Given the description of an element on the screen output the (x, y) to click on. 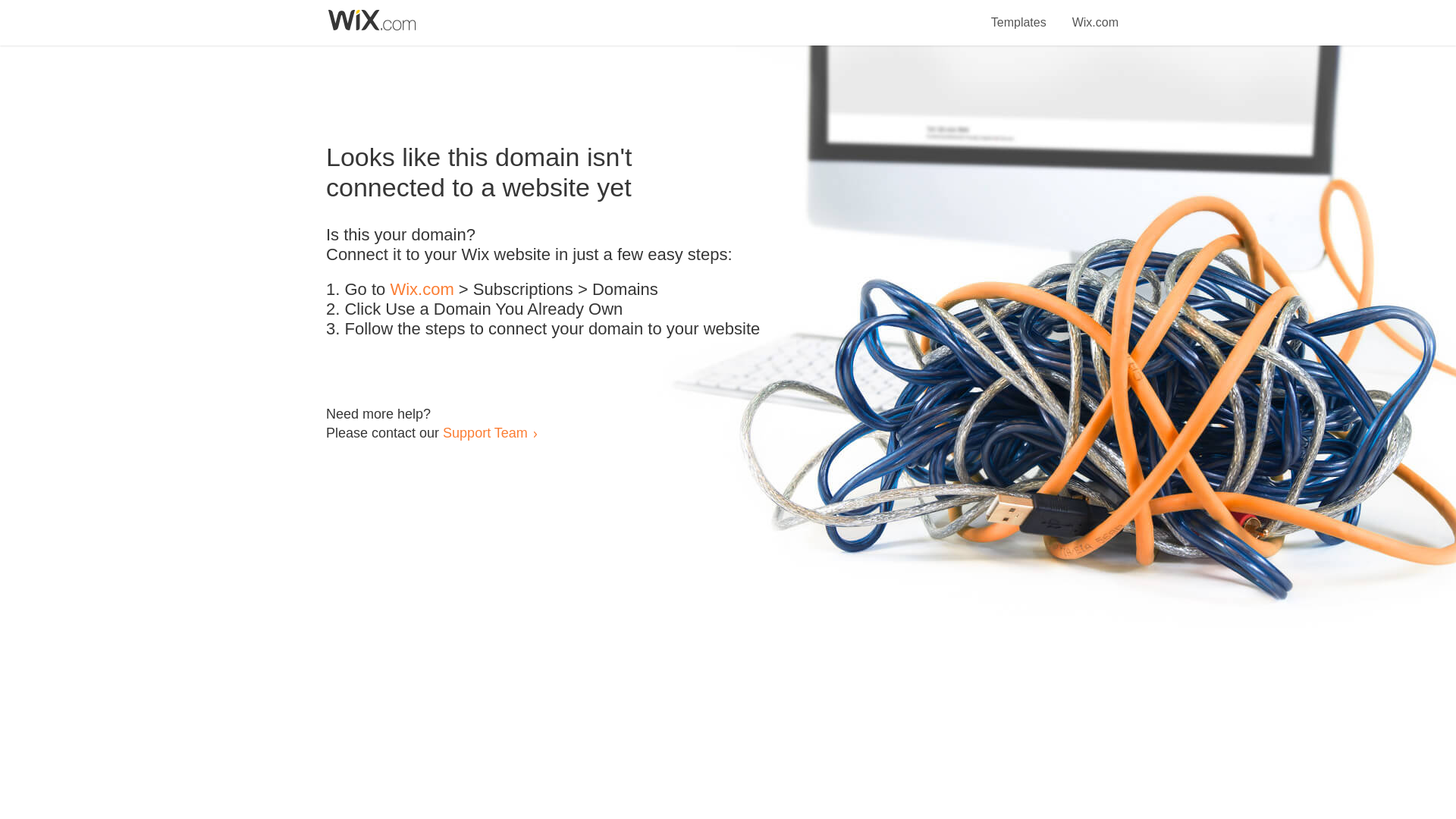
Wix.com (421, 289)
Templates (1018, 14)
Support Team (484, 432)
Wix.com (1095, 14)
